Given the description of an element on the screen output the (x, y) to click on. 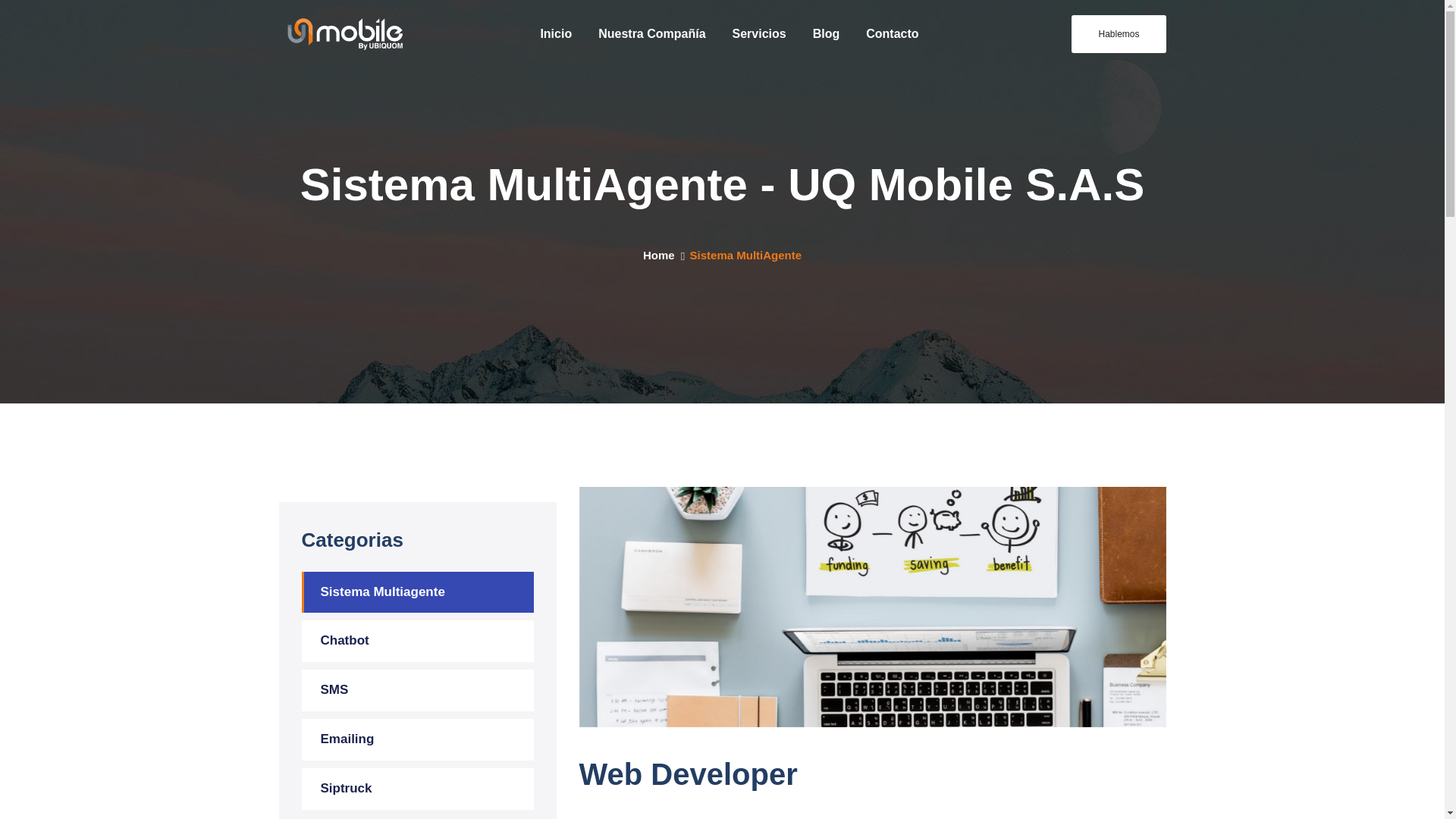
Inicio (556, 33)
Siptruck (417, 788)
Blog (826, 33)
Chatbot (417, 640)
Servicios (759, 33)
Hablemos (1118, 34)
Servicios (759, 33)
Contacto (892, 33)
Title (346, 33)
Emailing (417, 739)
Home (659, 255)
Inicio (556, 33)
Blog (826, 33)
Contacto (892, 33)
SMS (417, 690)
